Given the description of an element on the screen output the (x, y) to click on. 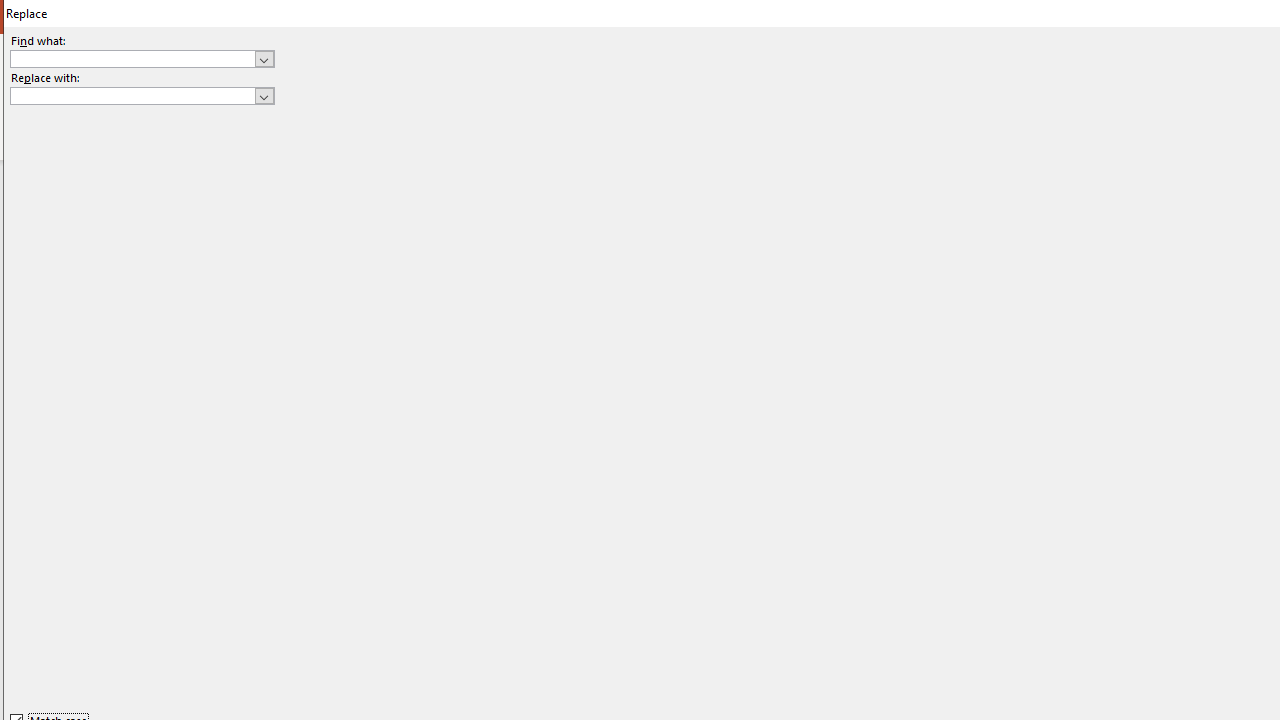
Replace with (142, 96)
Replace with (132, 95)
Find what (132, 58)
Find what (142, 58)
